Given the description of an element on the screen output the (x, y) to click on. 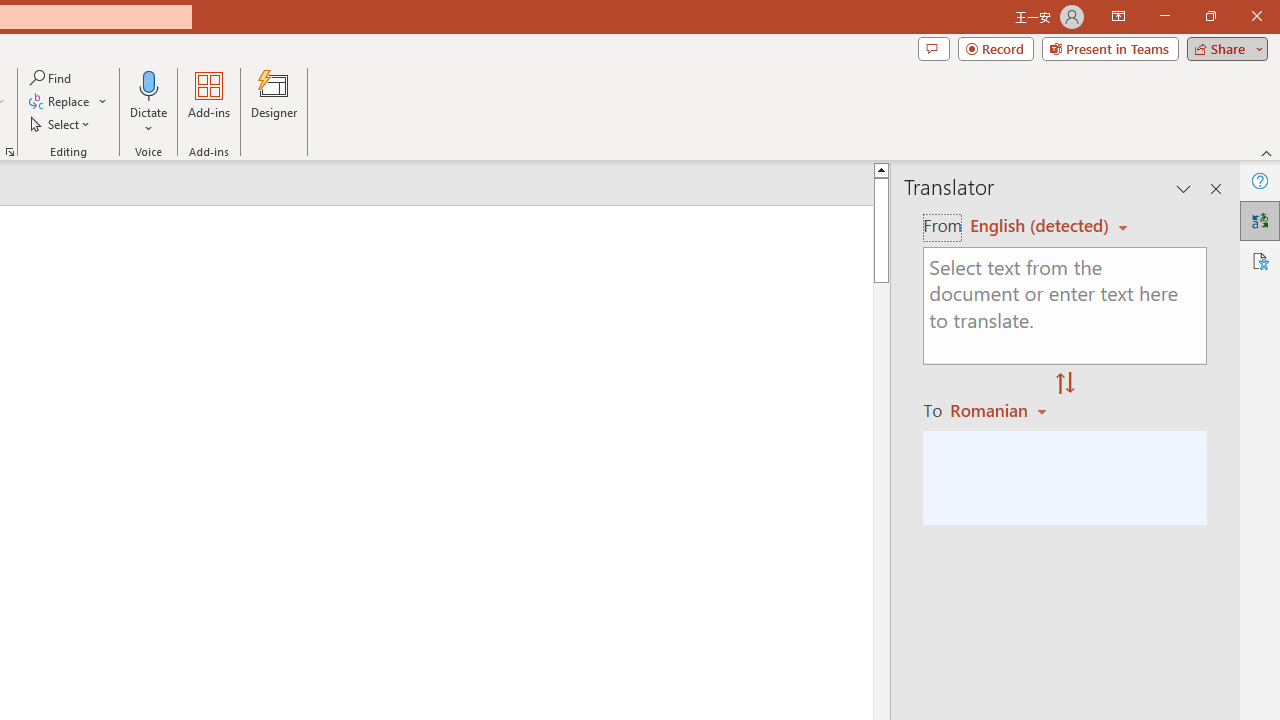
Find... (51, 78)
Format Object... (9, 151)
Swap "from" and "to" languages. (1065, 383)
